Given the description of an element on the screen output the (x, y) to click on. 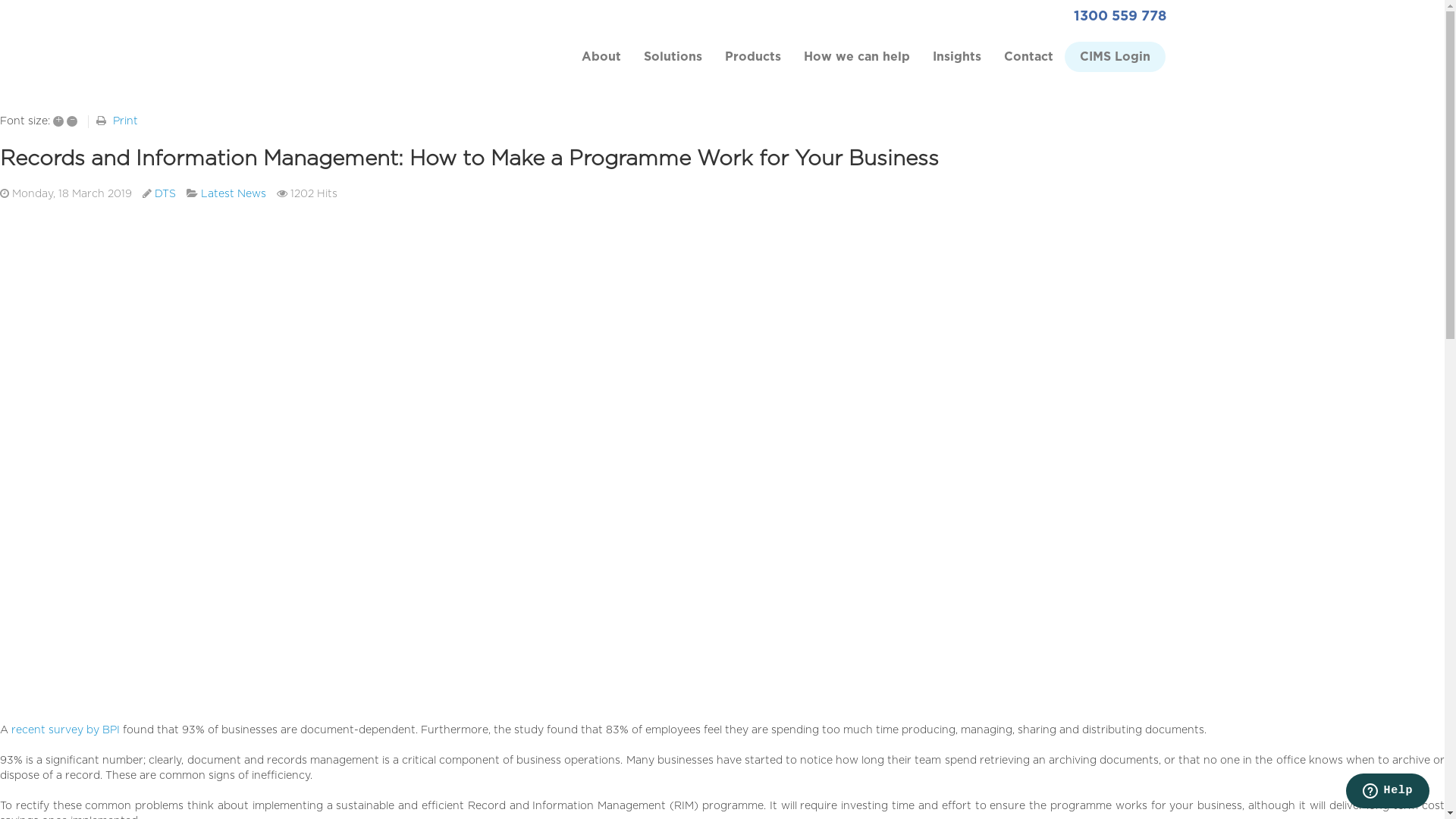
Products Element type: text (752, 66)
About Element type: text (601, 66)
1300 559 778 Element type: text (1119, 16)
Solutions Element type: text (672, 66)
Opens a widget where you can find more information Element type: hover (1387, 792)
DTS Element type: text (164, 193)
Contact Element type: text (1028, 66)
Latest News Element type: text (233, 193)
How we can help Element type: text (856, 66)
+ Element type: text (58, 121)
recent survey by BPI Element type: text (65, 729)
Print Element type: text (125, 121)
